Given the description of an element on the screen output the (x, y) to click on. 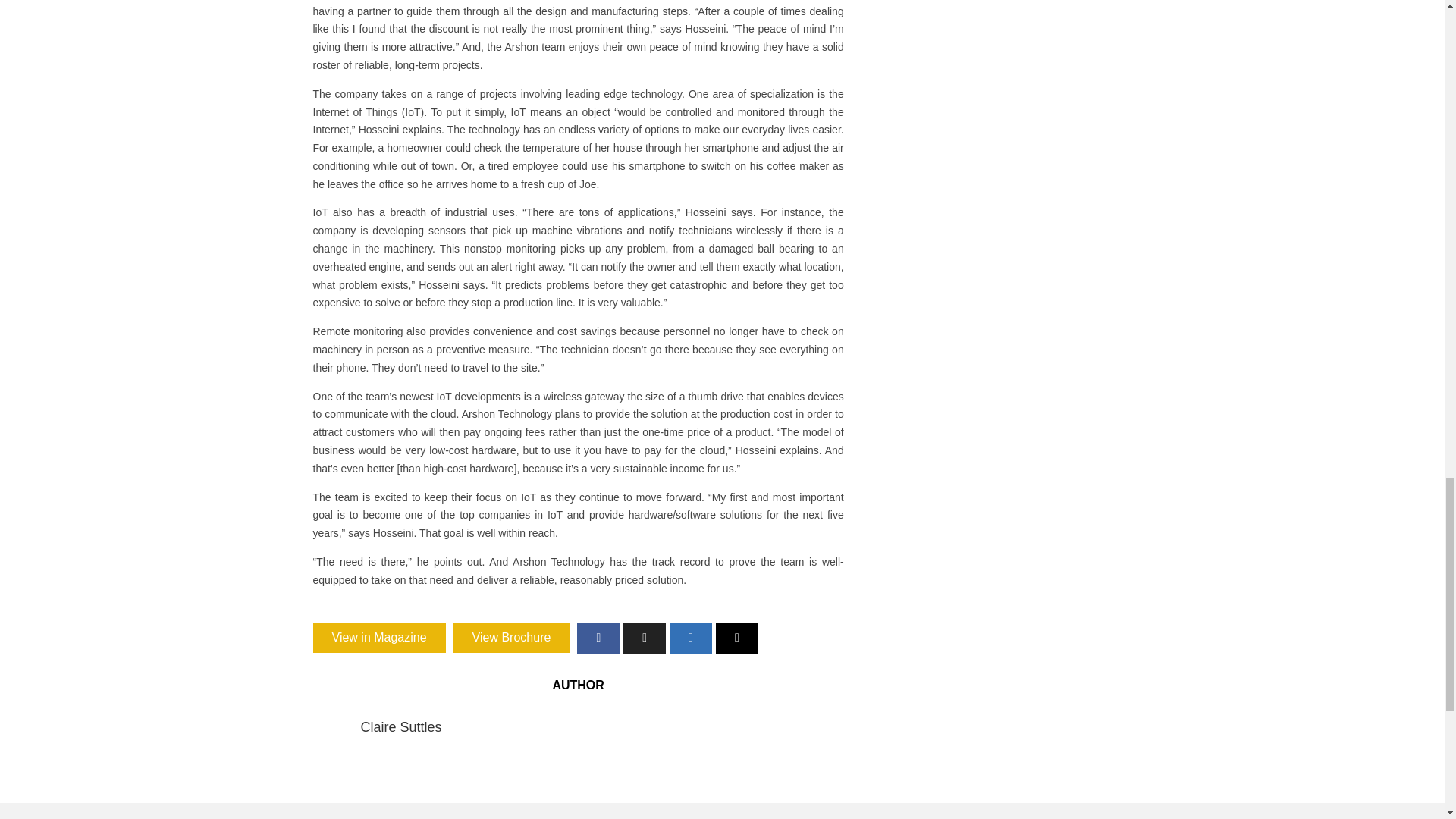
View in Magazine (379, 637)
View Brochure (511, 637)
Claire Suttles (401, 726)
